Given the description of an element on the screen output the (x, y) to click on. 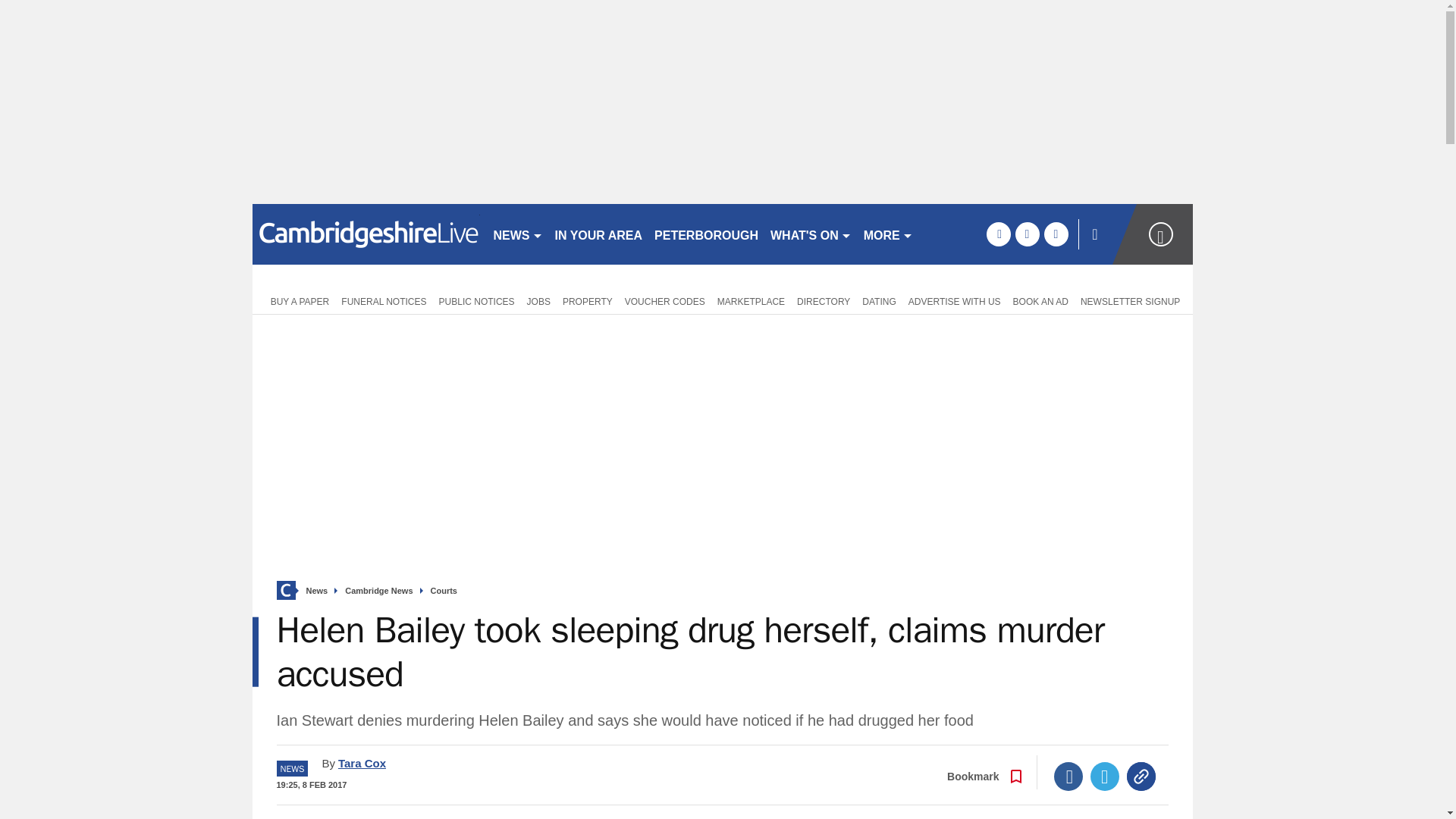
Facebook (1068, 776)
facebook (997, 233)
instagram (1055, 233)
WHAT'S ON (810, 233)
twitter (1026, 233)
MORE (887, 233)
NEWS (517, 233)
Twitter (1104, 776)
IN YOUR AREA (598, 233)
PETERBOROUGH (705, 233)
